Given the description of an element on the screen output the (x, y) to click on. 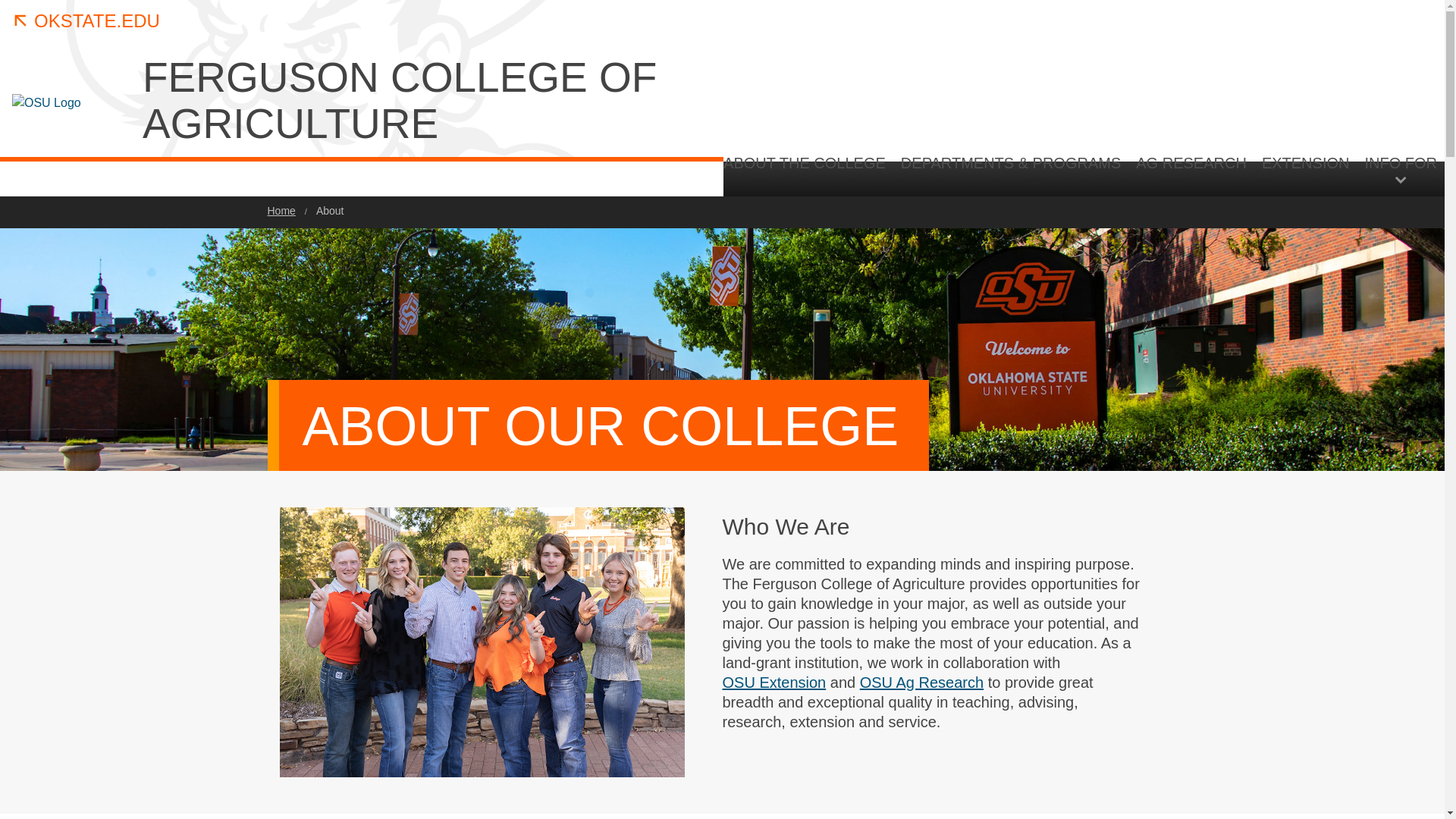
ABOUT THE COLLEGE (808, 174)
FERGUSON COLLEGE OF AGRICULTURE (409, 100)
OKSTATE.EDU (85, 21)
Search (1337, 301)
EXTENSION (1304, 174)
Students standing on the OSU campus (481, 641)
AG RESEARCH (1190, 174)
